Given the description of an element on the screen output the (x, y) to click on. 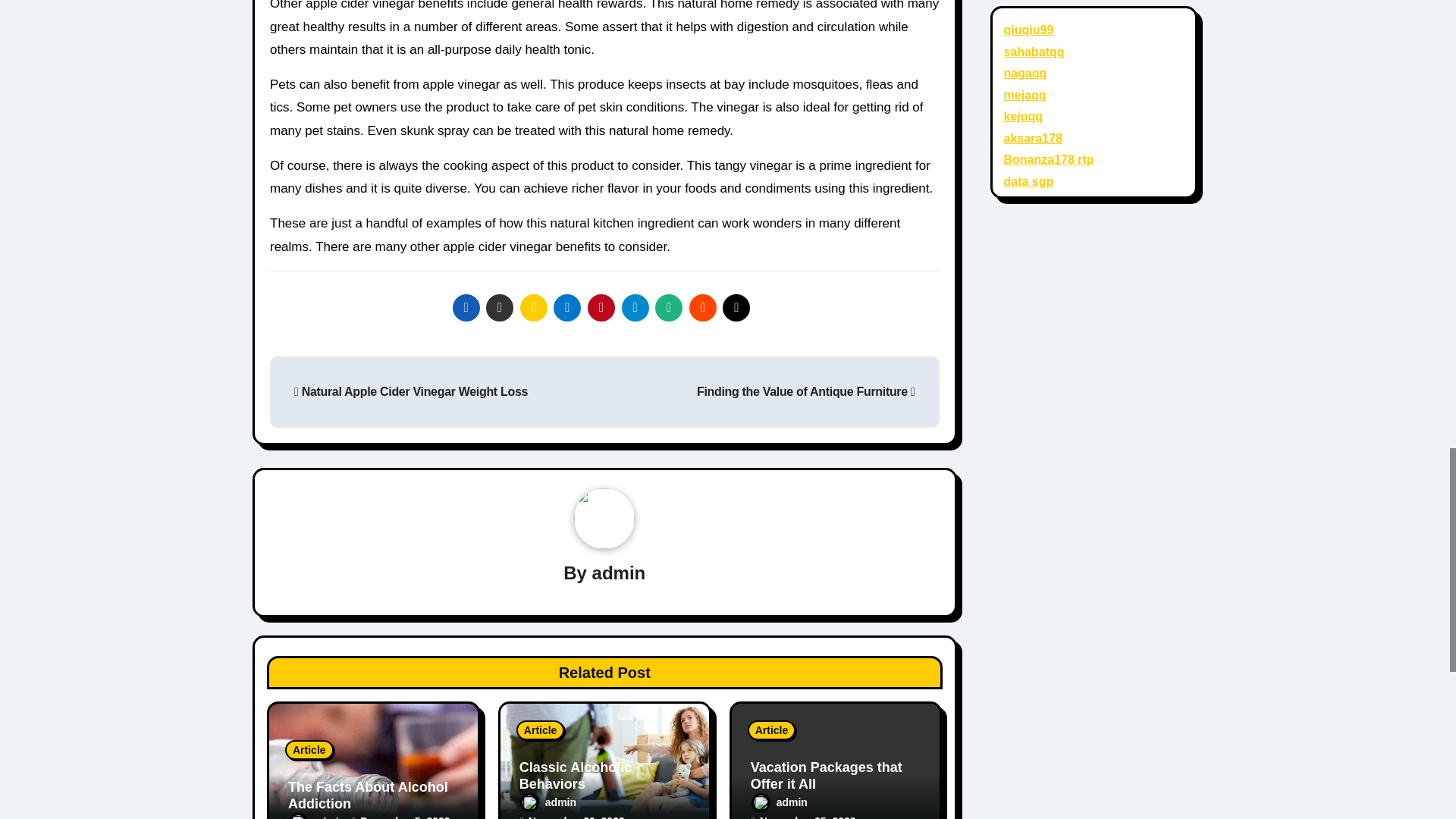
Permalink to: Classic Alcoholic Behaviors (575, 775)
Natural Apple Cider Vinegar Weight Loss (410, 391)
Finding the Value of Antique Furniture (806, 391)
Permalink to: Vacation Packages that Offer it All (826, 775)
Permalink to: The Facts About Alcohol Addiction (368, 795)
